Given the description of an element on the screen output the (x, y) to click on. 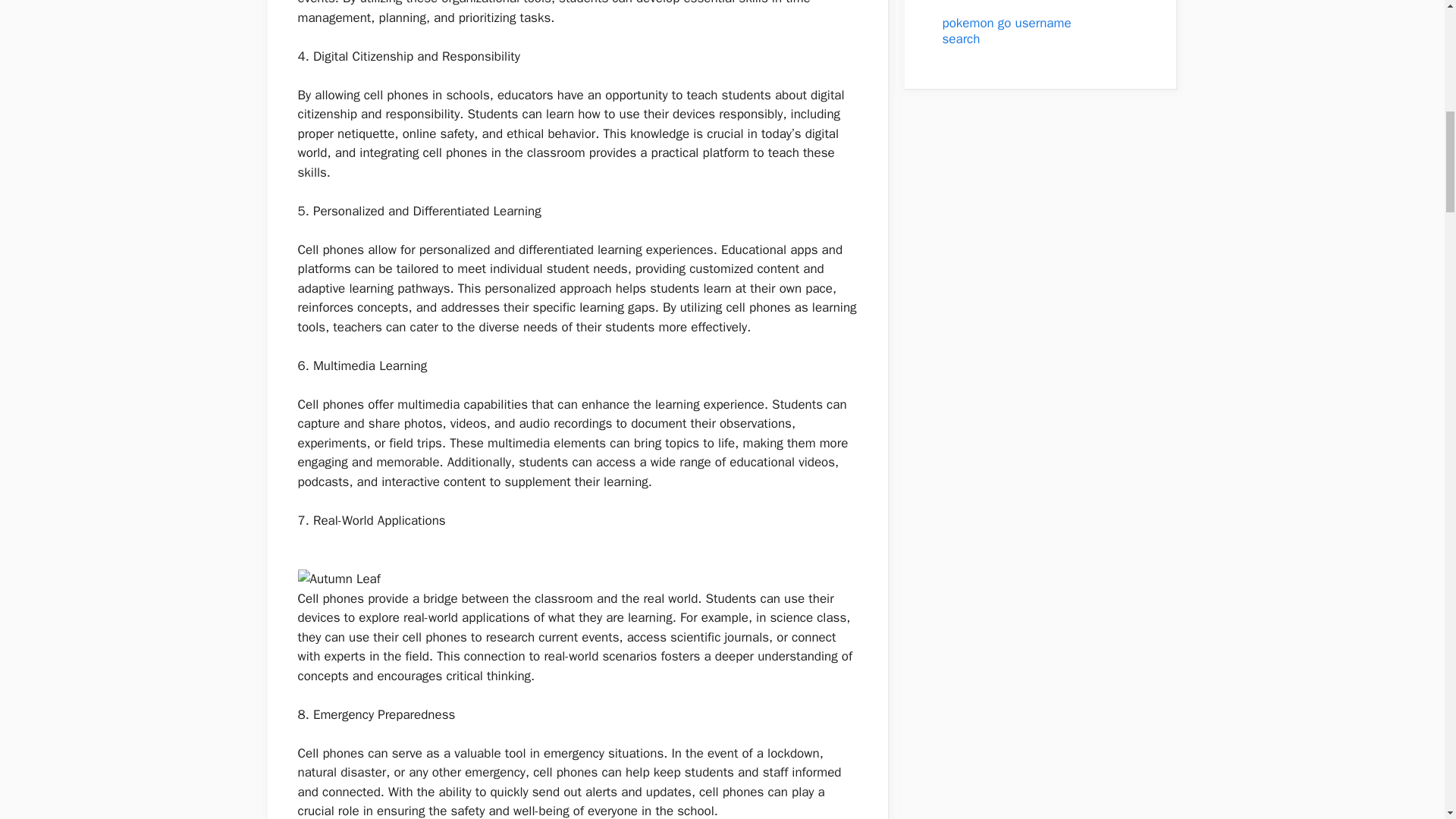
Autumn Leaf (338, 578)
pokemon go username search (1006, 30)
